Given the description of an element on the screen output the (x, y) to click on. 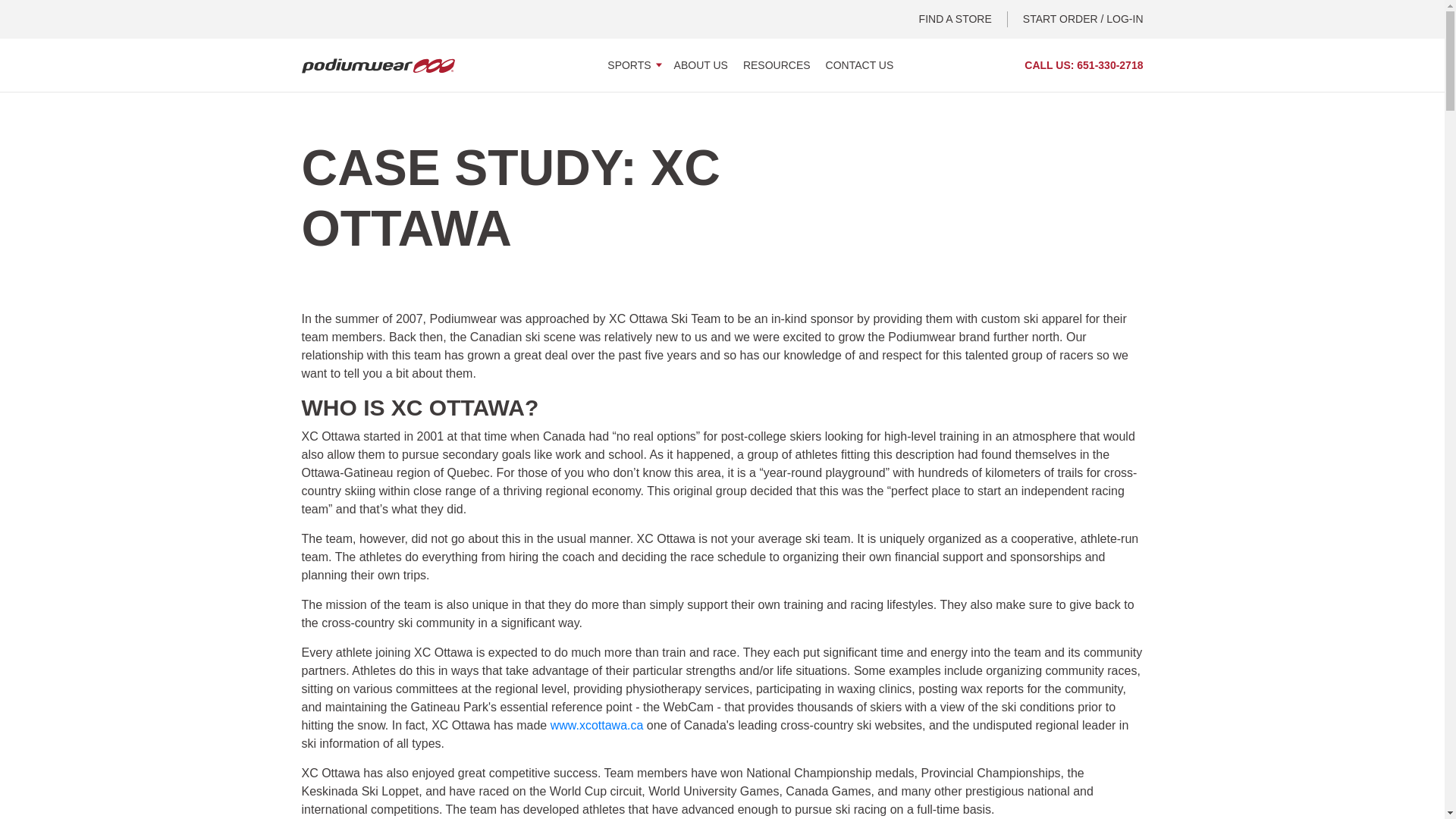
www.xcottawa.ca (596, 725)
SPORTS (632, 64)
CONTACT US (859, 64)
FIND A STORE (962, 19)
ABOUT US (701, 64)
RESOURCES (776, 64)
CALL US: 651-330-2718 (1083, 65)
